Given the description of an element on the screen output the (x, y) to click on. 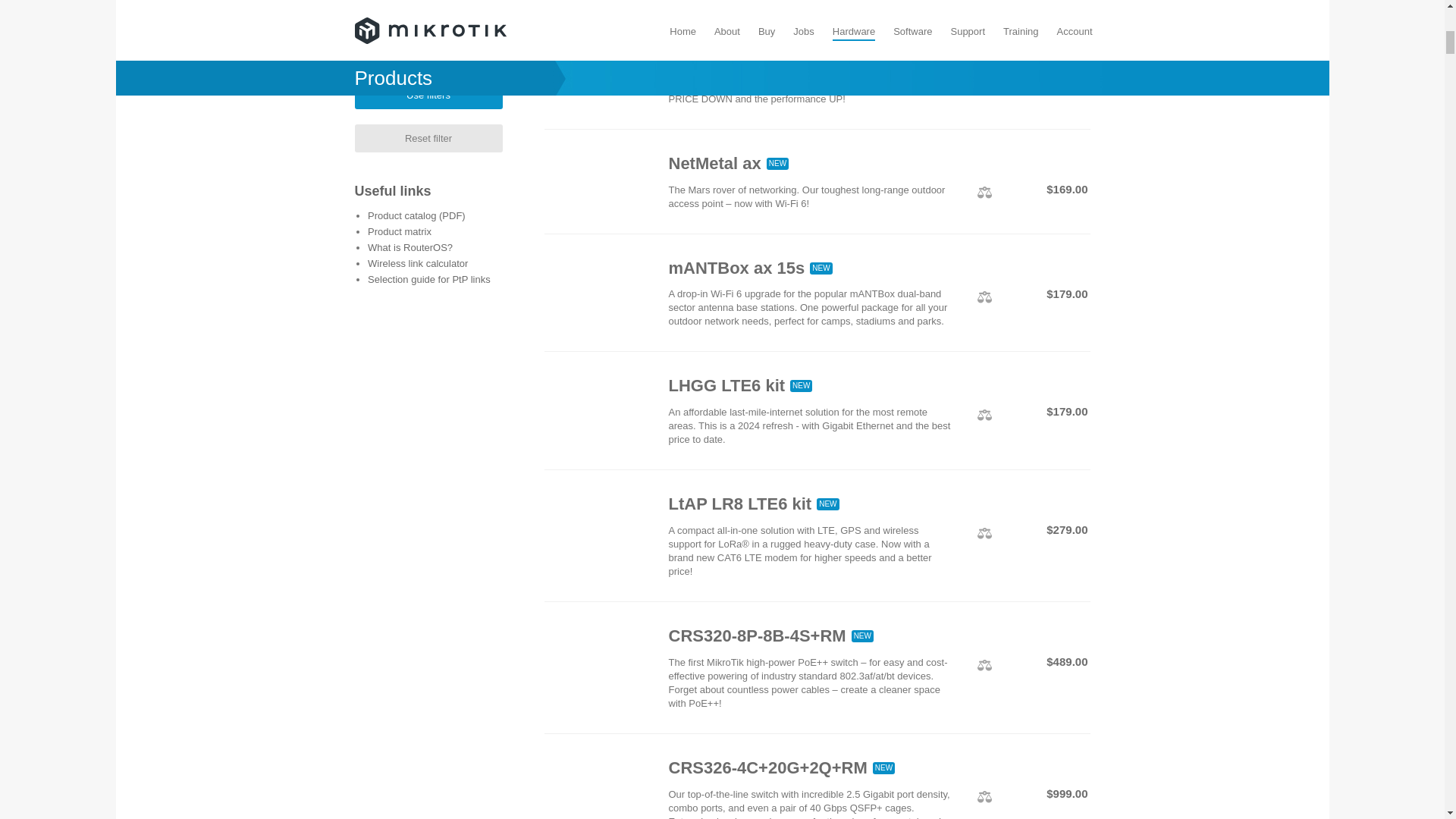
Compare (983, 665)
Compare (983, 74)
Use filters (428, 94)
Selection guide for PtP links (429, 278)
Compare (983, 296)
Product matrix (399, 231)
Compare (983, 532)
Compare (983, 414)
Wireless link calculator (417, 263)
What is RouterOS? (410, 247)
